Given the description of an element on the screen output the (x, y) to click on. 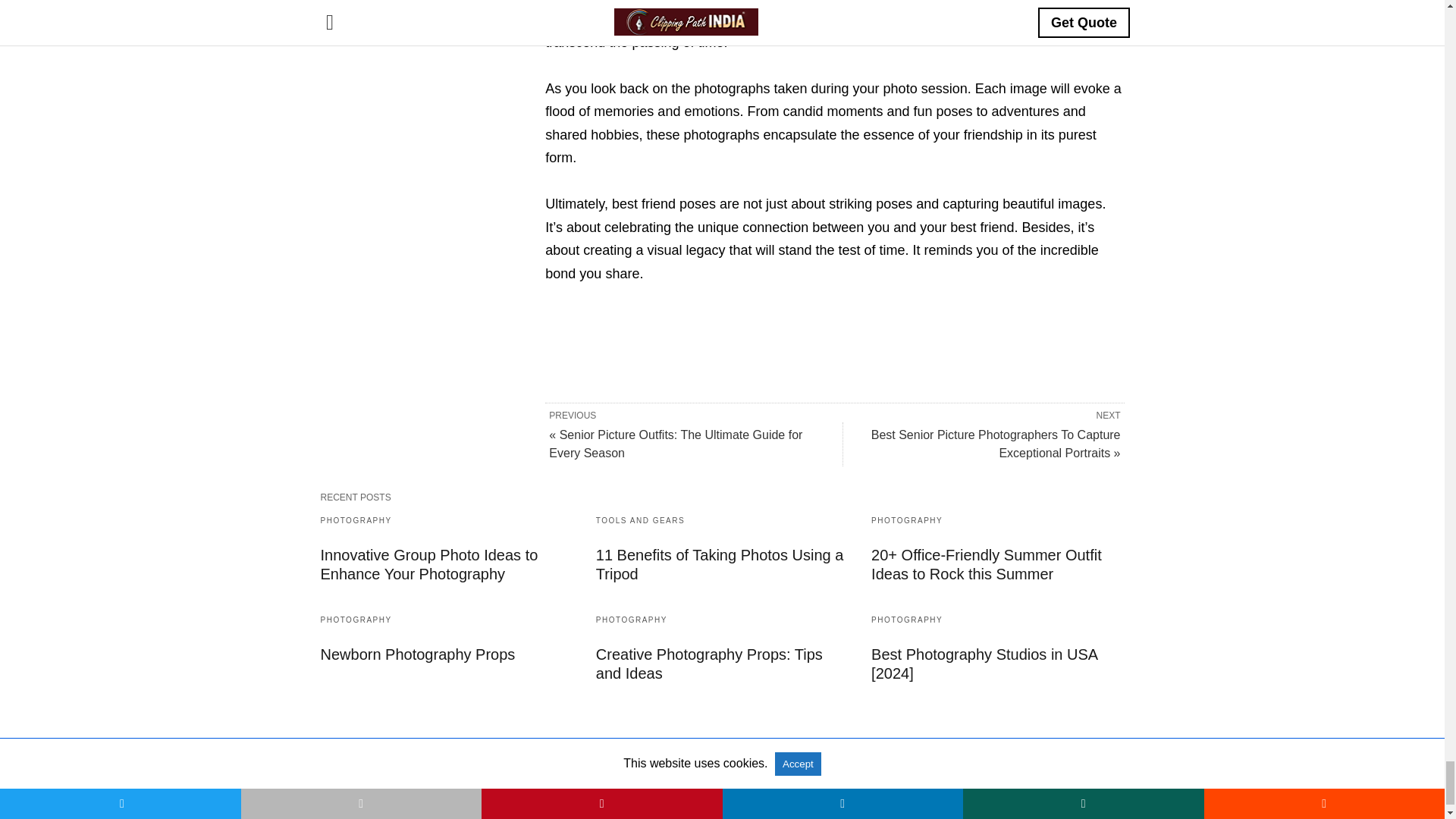
Innovative Group Photo Ideas to Enhance Your Photography (428, 564)
PHOTOGRAPHY (355, 520)
View Non-AMP Version (769, 790)
11 Benefits of Taking Photos Using a Tripod (719, 564)
TOOLS AND GEARS (639, 520)
PHOTOGRAPHY (906, 520)
